Given the description of an element on the screen output the (x, y) to click on. 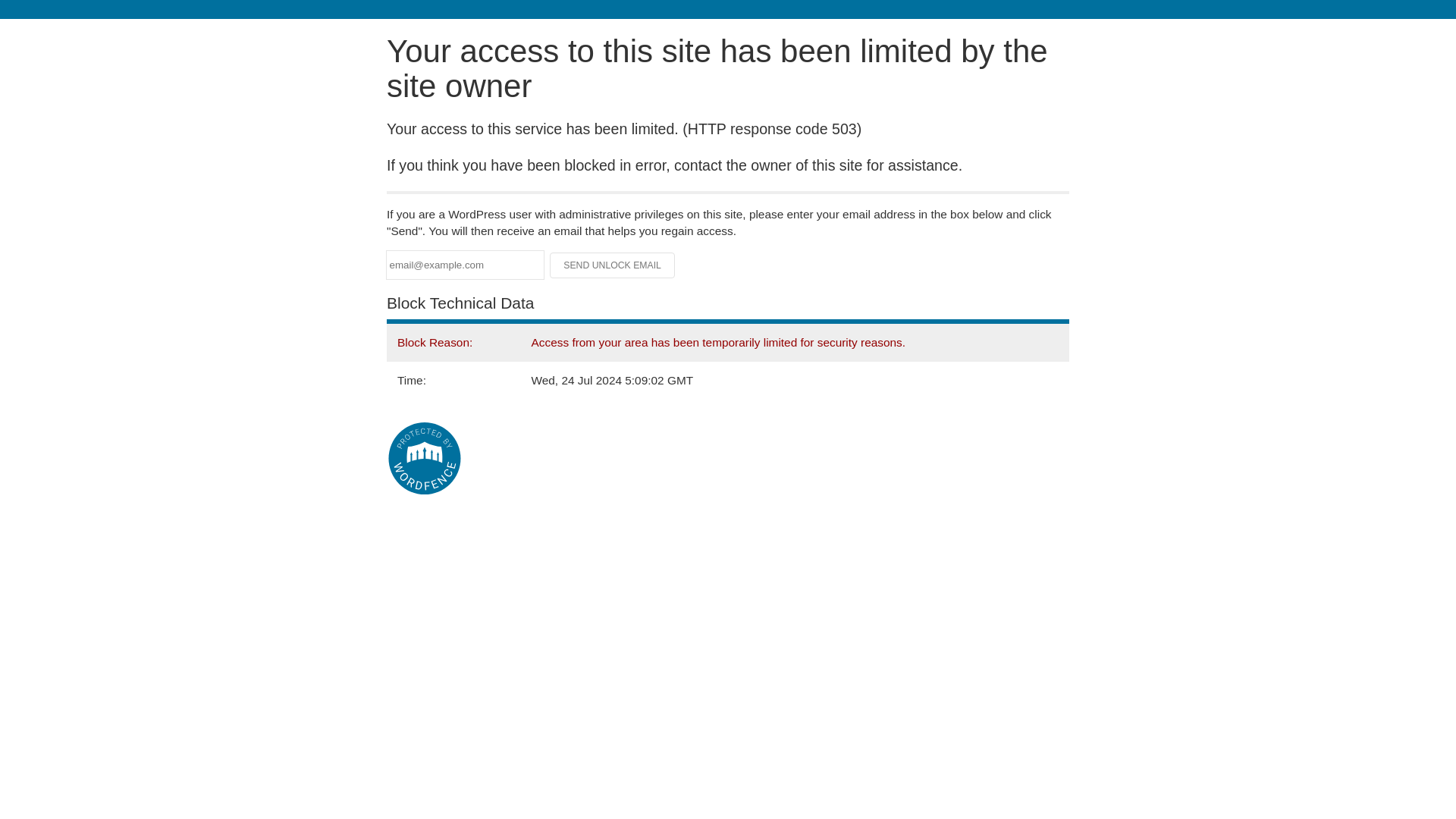
Send Unlock Email (612, 265)
Send Unlock Email (612, 265)
